Given the description of an element on the screen output the (x, y) to click on. 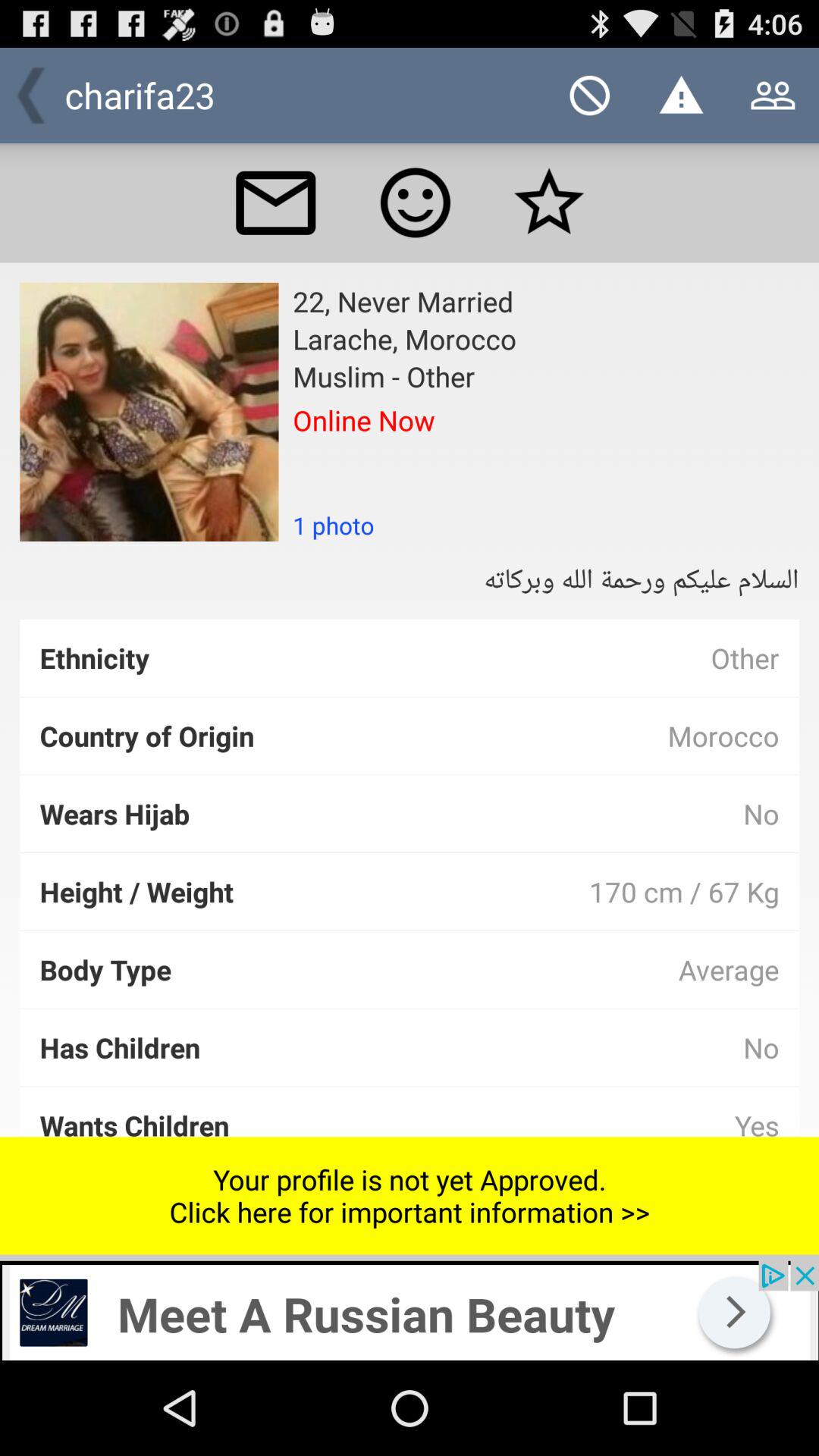
view the advertisement (409, 1310)
